Given the description of an element on the screen output the (x, y) to click on. 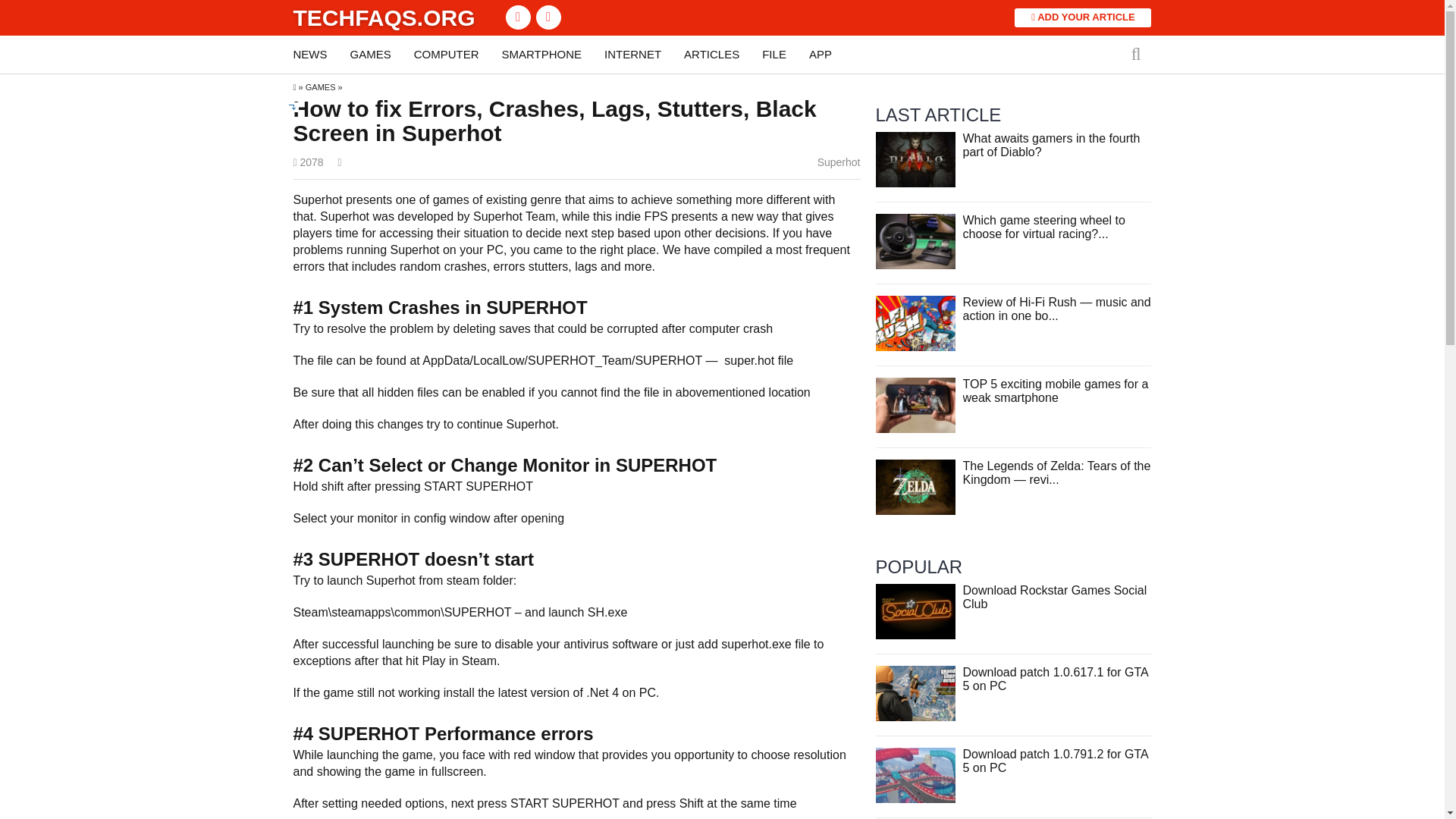
Which game steering wheel to choose for virtual racing?... (1043, 226)
NEWS (309, 54)
COMPUTER (446, 54)
TOP 5 exciting mobile games for a weak smartphone (1055, 390)
Download Rockstar Games Social Club (1054, 596)
GAMES (320, 86)
SMARTPHONE (542, 54)
TECHFAQS.ORG (383, 17)
What awaits gamers in the fourth part of Diablo? (915, 158)
Superhot (838, 162)
